Given the description of an element on the screen output the (x, y) to click on. 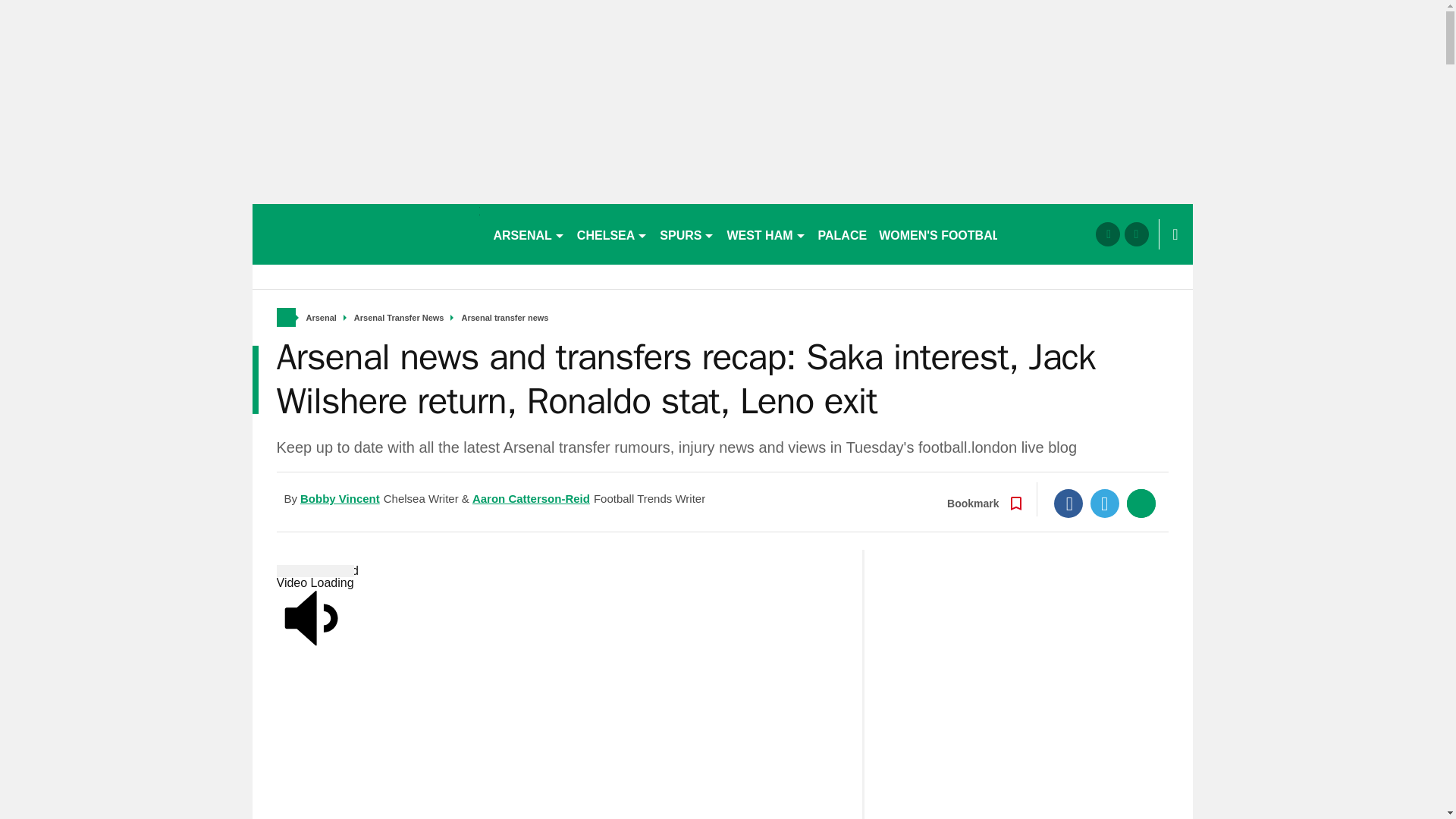
facebook (1106, 233)
ARSENAL (528, 233)
CHELSEA (611, 233)
WEST HAM (765, 233)
PALACE (842, 233)
Facebook (1068, 502)
WOMEN'S FOOTBALL (942, 233)
Twitter (1104, 502)
twitter (1136, 233)
SPURS (686, 233)
